Given the description of an element on the screen output the (x, y) to click on. 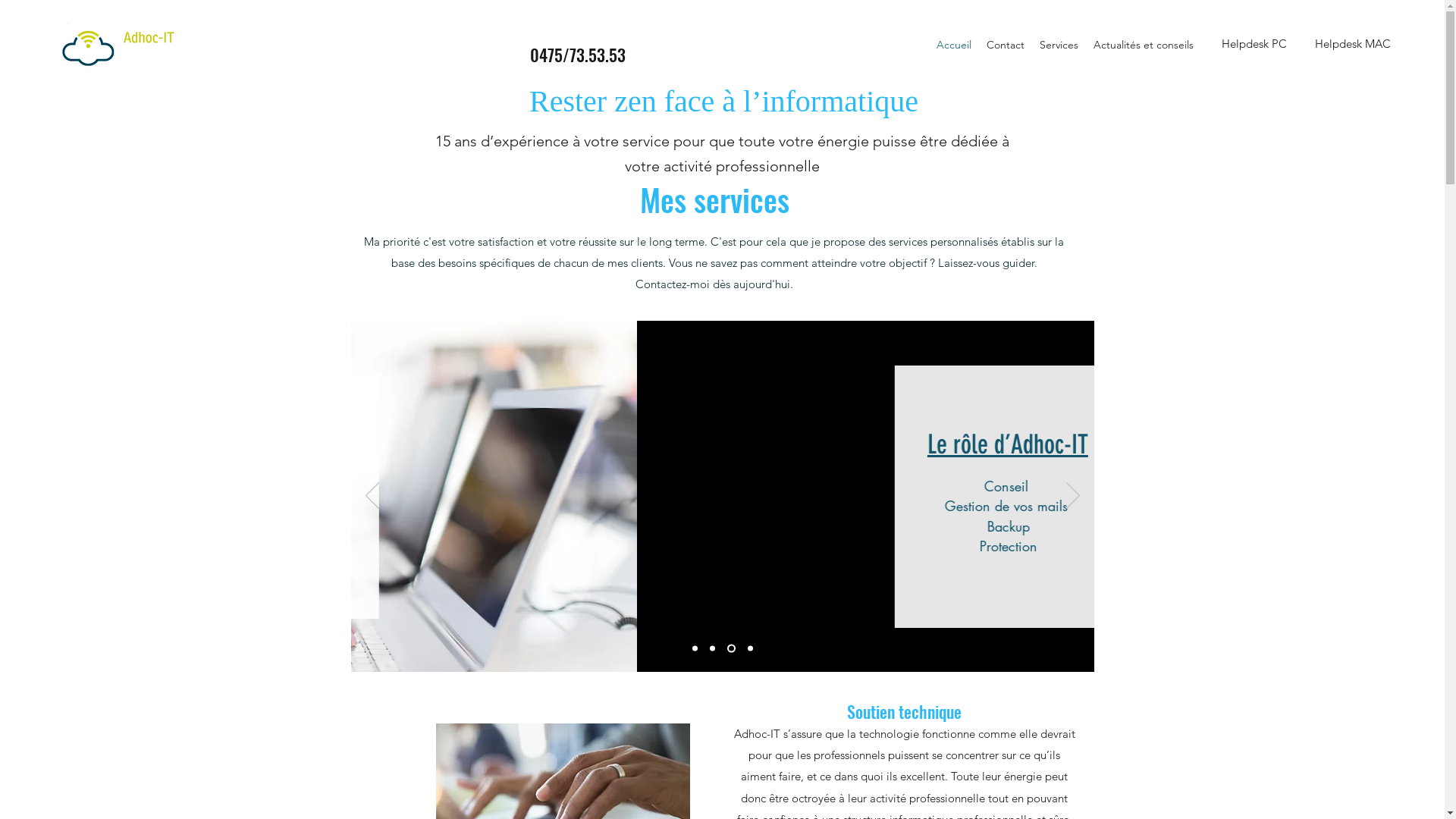
Helpdesk PC Element type: text (1382, 61)
Soutien technique Element type: text (719, 424)
Contact Element type: text (1005, 44)
Services Element type: text (1058, 44)
Accueil Element type: text (953, 44)
Helpdesk MAC Element type: text (1352, 43)
Helpdesk PC Element type: text (1253, 43)
